Given the description of an element on the screen output the (x, y) to click on. 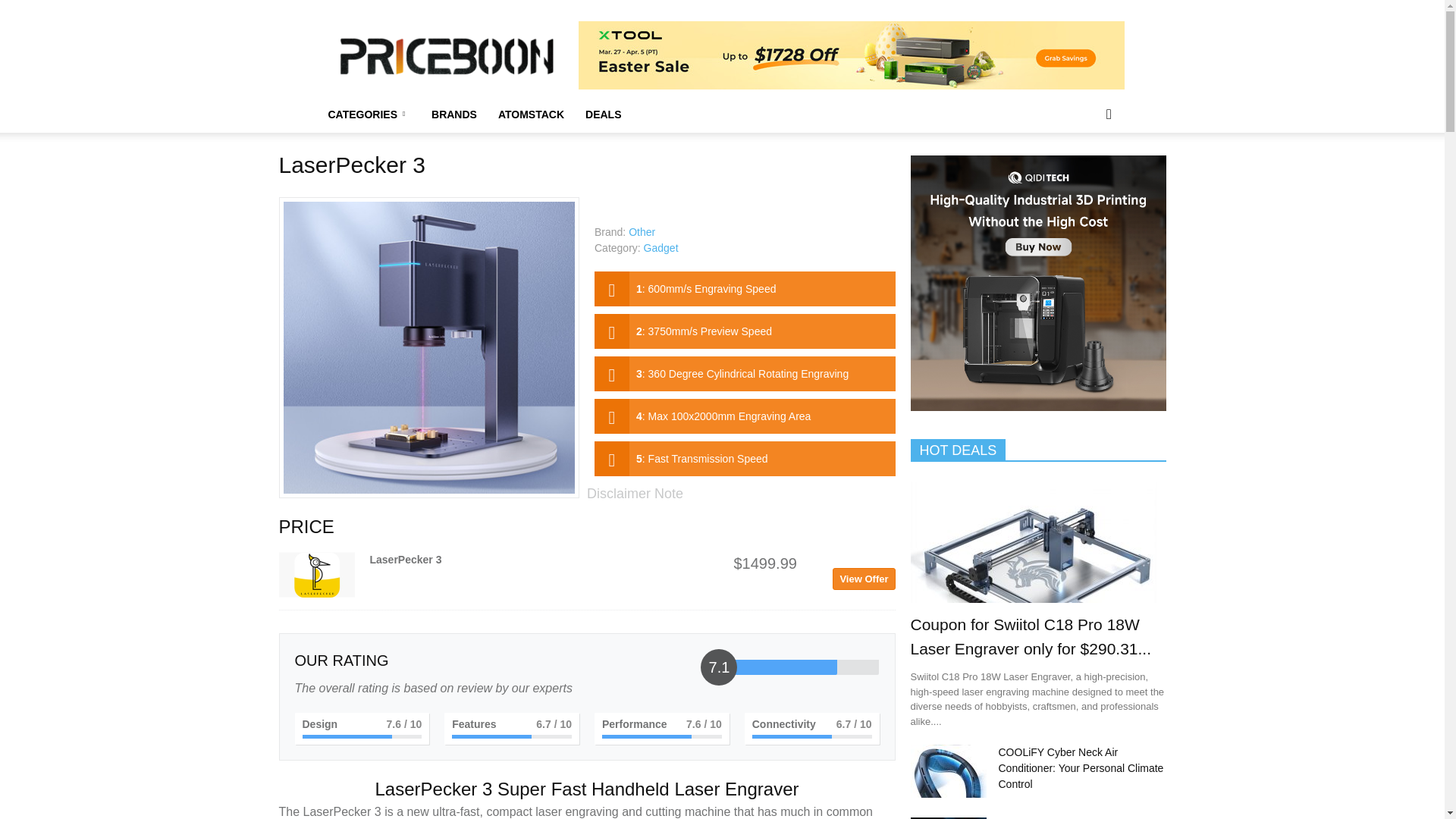
CATEGORIES (368, 114)
BRANDS (453, 114)
ATOMSTACK (531, 114)
